Given the description of an element on the screen output the (x, y) to click on. 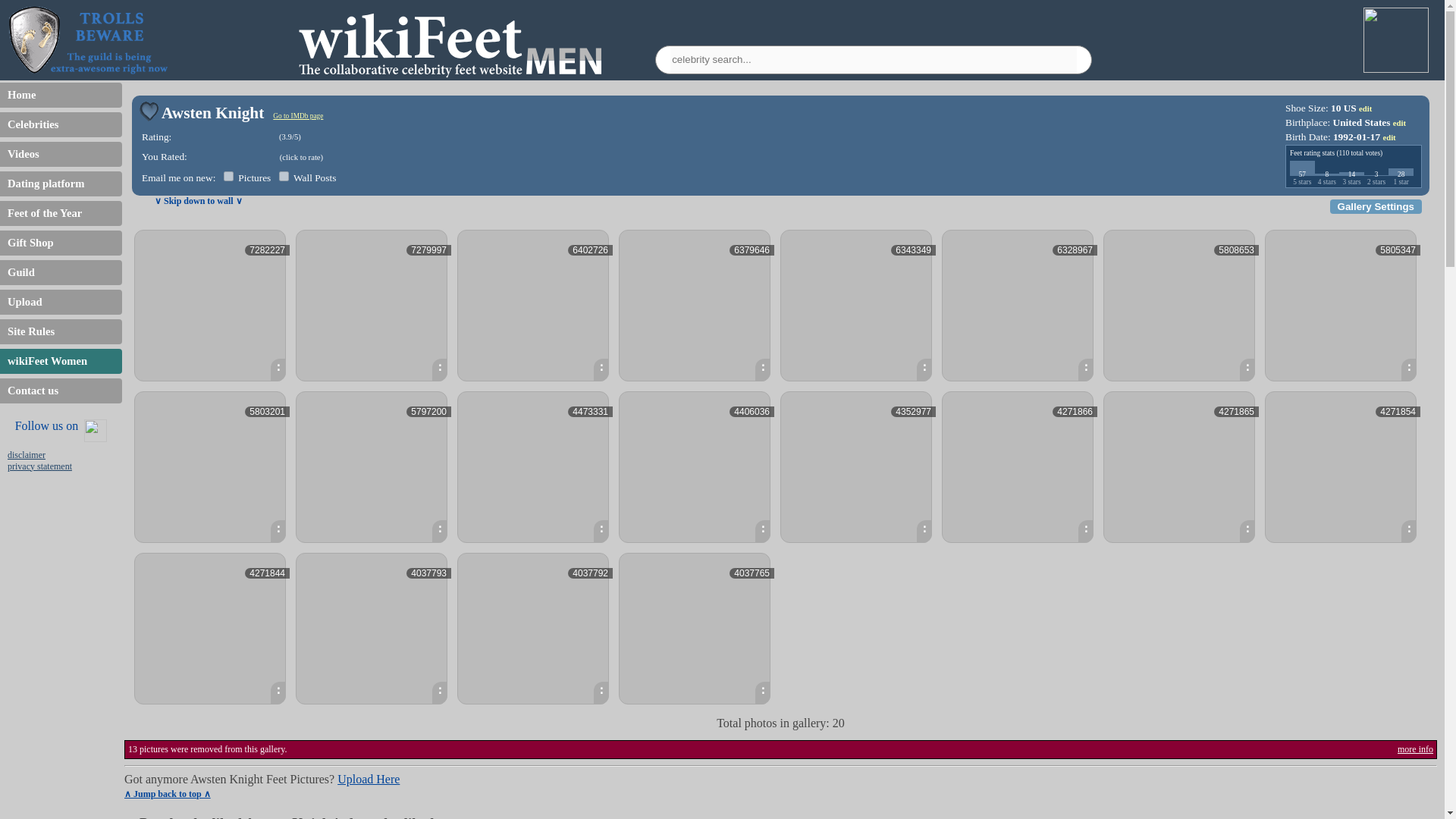
on (283, 175)
edit (1387, 137)
Add to favorites (148, 111)
Upload Here (367, 779)
edit (1399, 122)
edit (1364, 108)
on (228, 175)
Go to IMDb page (298, 115)
